Given the description of an element on the screen output the (x, y) to click on. 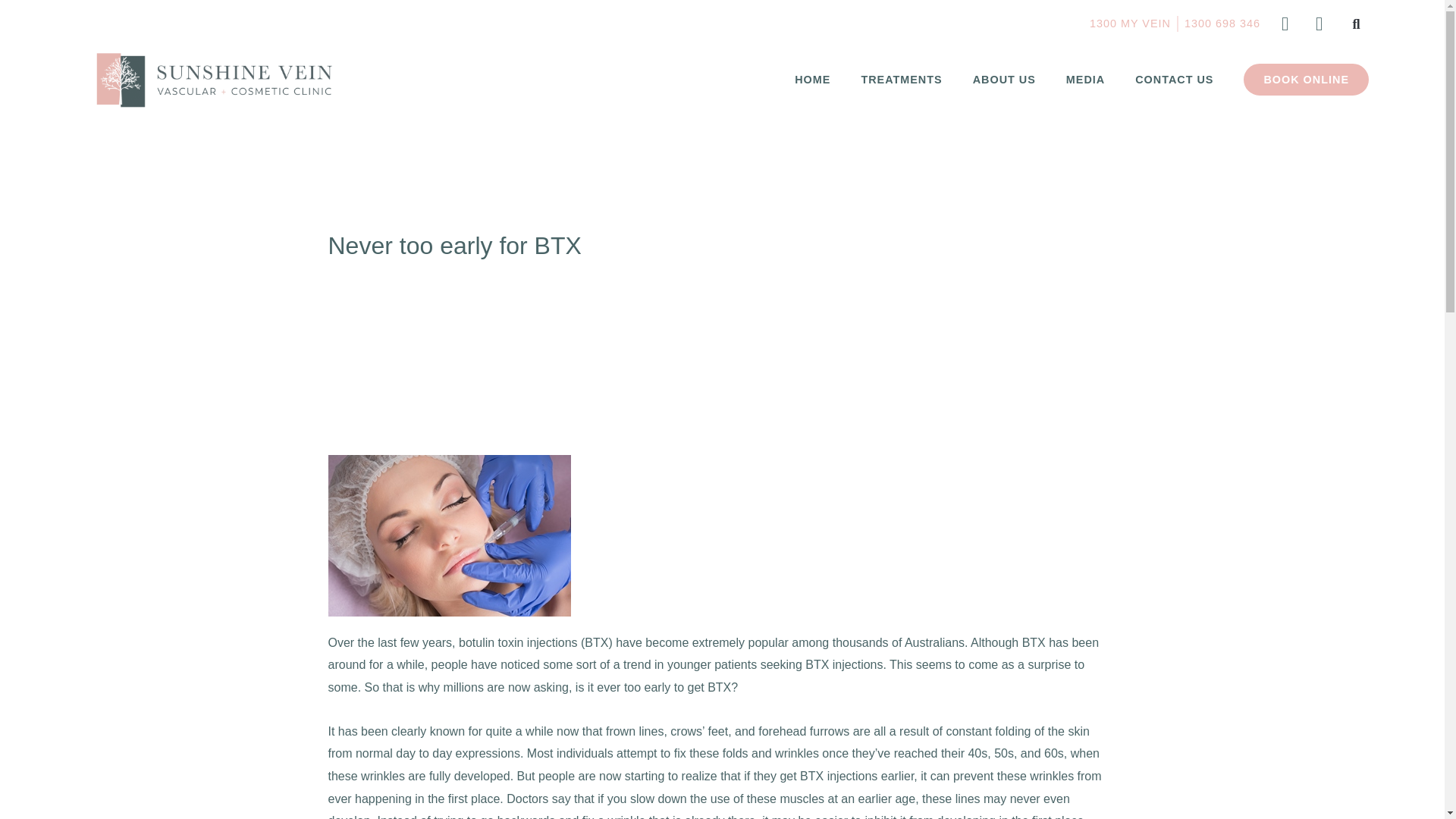
CONTACT US (1173, 79)
ABOUT US (1004, 79)
1300 698 346 (1222, 23)
MEDIA (1085, 79)
TREATMENTS (900, 79)
1300 MY VEIN (1129, 23)
Instagram (1317, 23)
Facebook (1284, 23)
BOOK ONLINE (1305, 79)
HOME (811, 79)
